Given the description of an element on the screen output the (x, y) to click on. 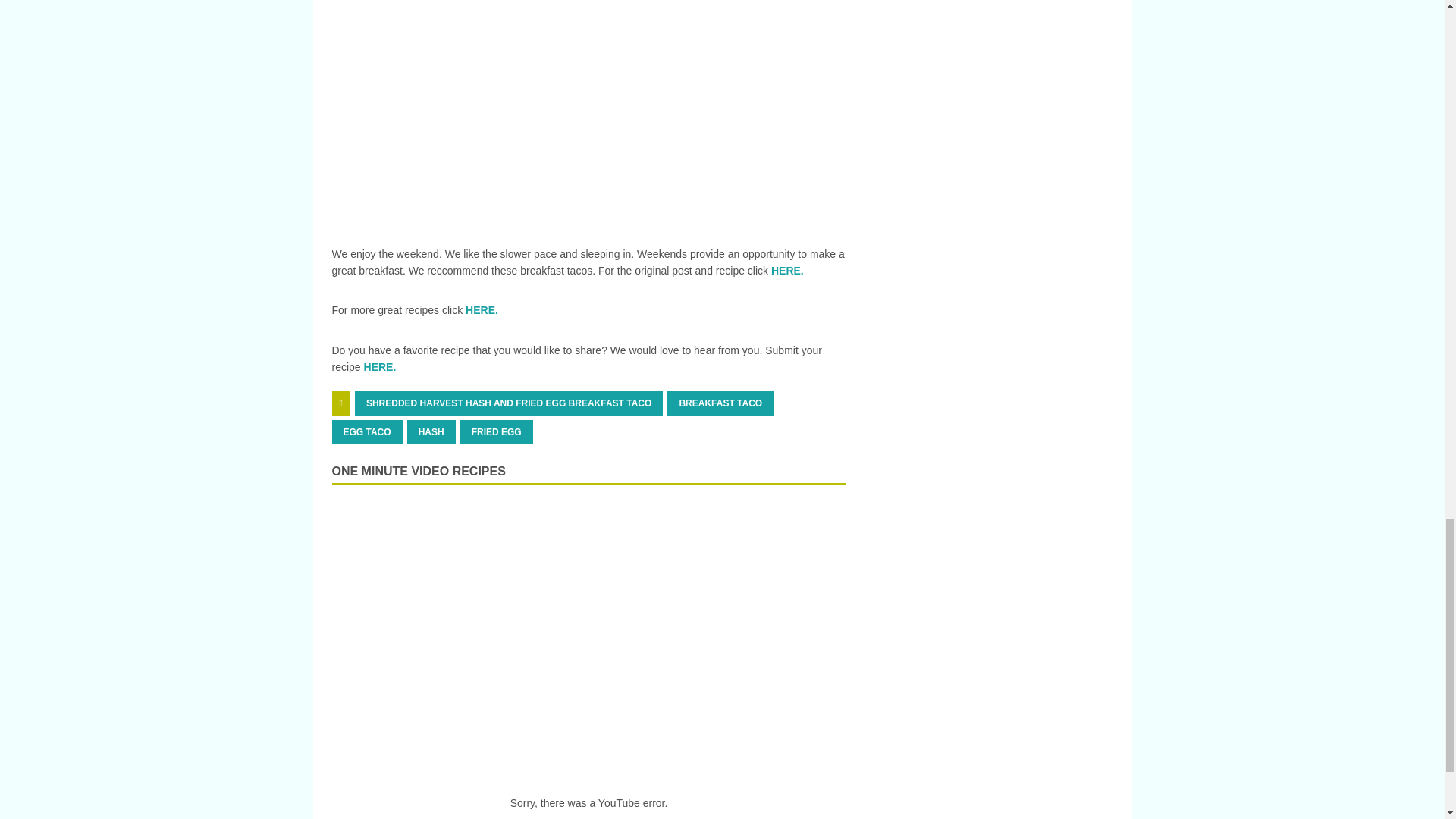
EGG TACO (367, 432)
FRIED EGG (496, 432)
SHREDDED HARVEST HASH AND FRIED EGG BREAKFAST TACO (508, 403)
HASH (431, 432)
HERE. (787, 270)
BREAKFAST TACO (719, 403)
HERE. (481, 309)
HERE. (380, 367)
